Given the description of an element on the screen output the (x, y) to click on. 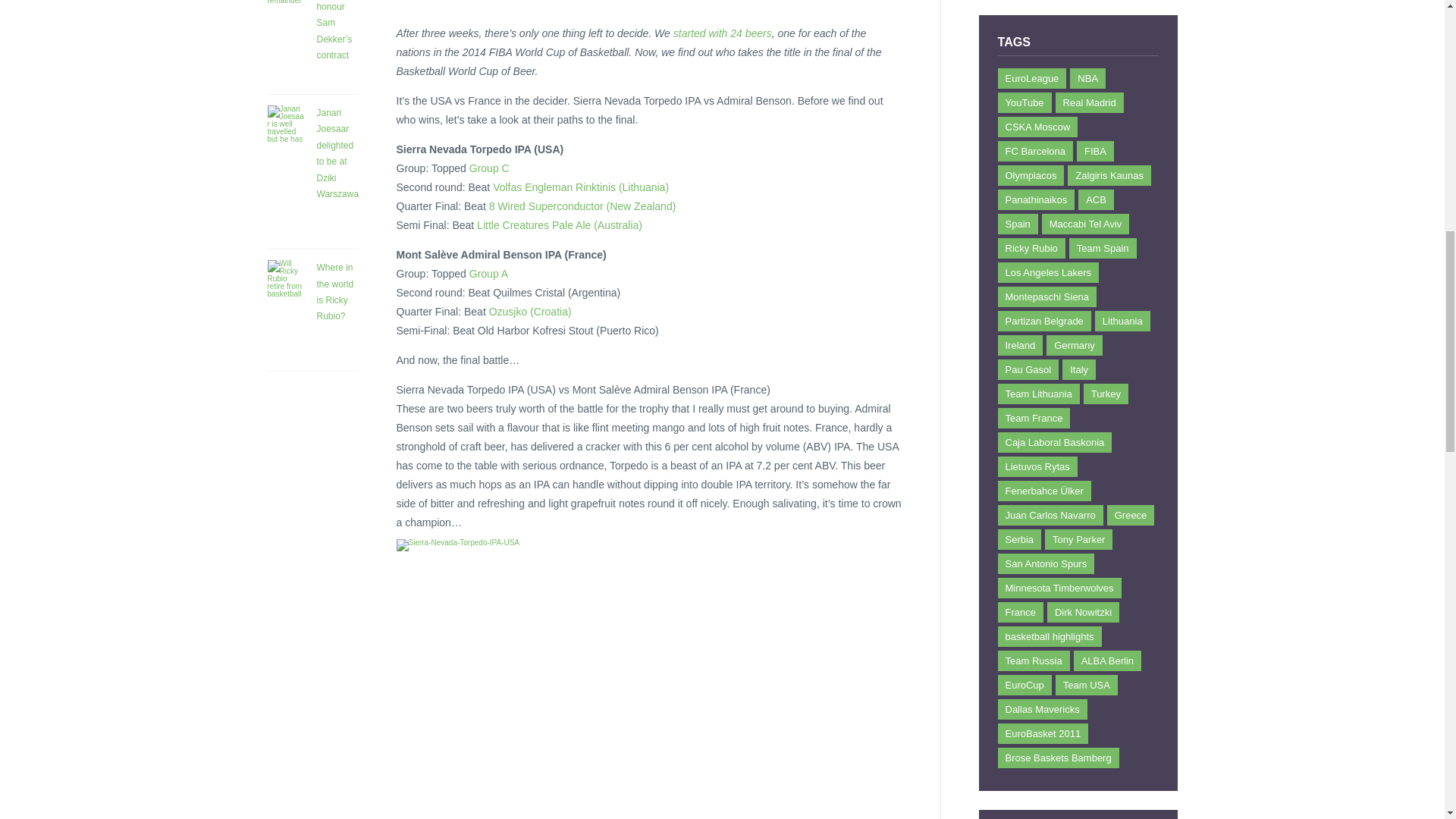
started with 24 beers (721, 33)
Group A (488, 273)
Group C (488, 168)
